Given the description of an element on the screen output the (x, y) to click on. 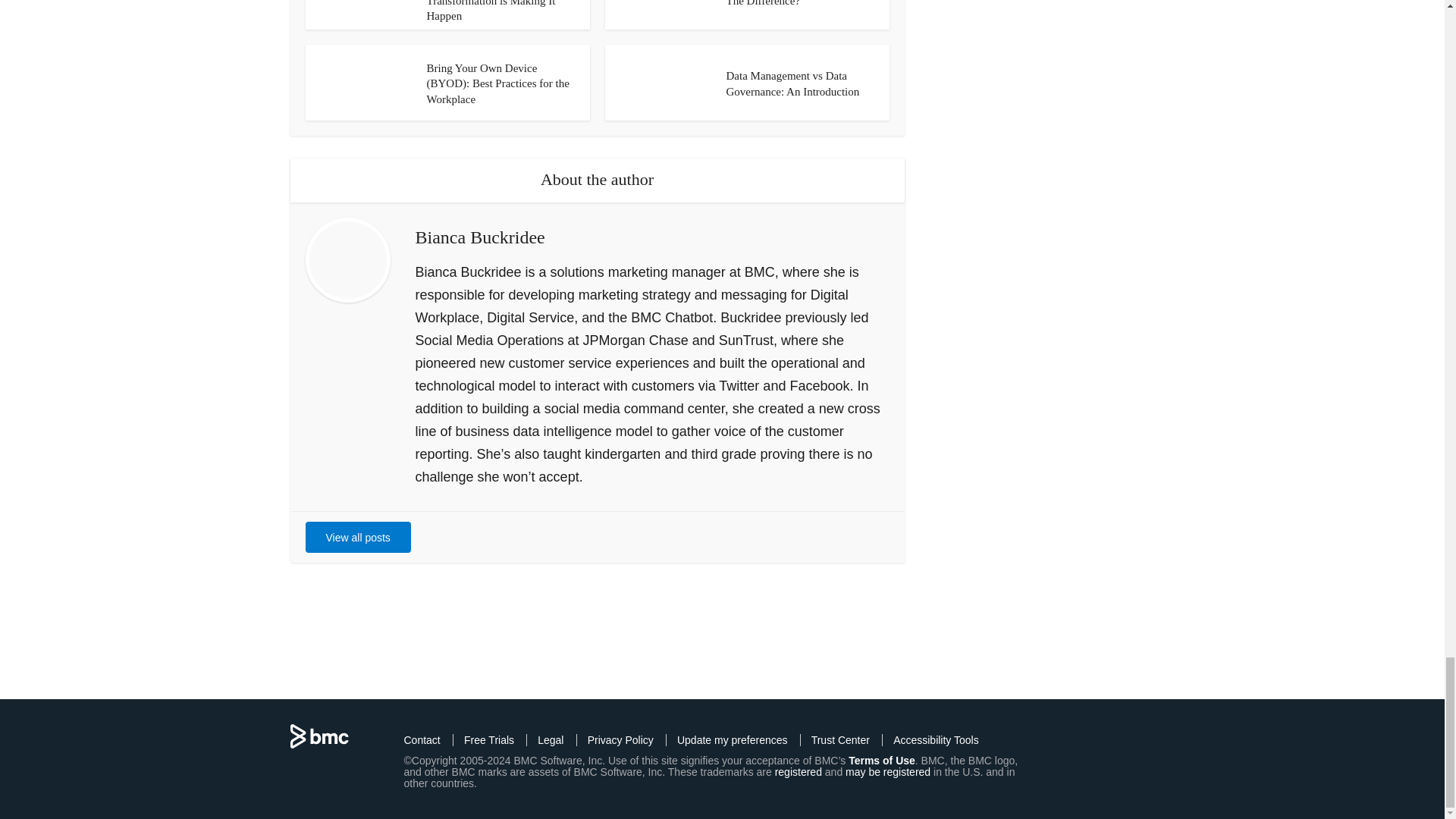
Data Management vs Data Governance: An Introduction (793, 83)
